Given the description of an element on the screen output the (x, y) to click on. 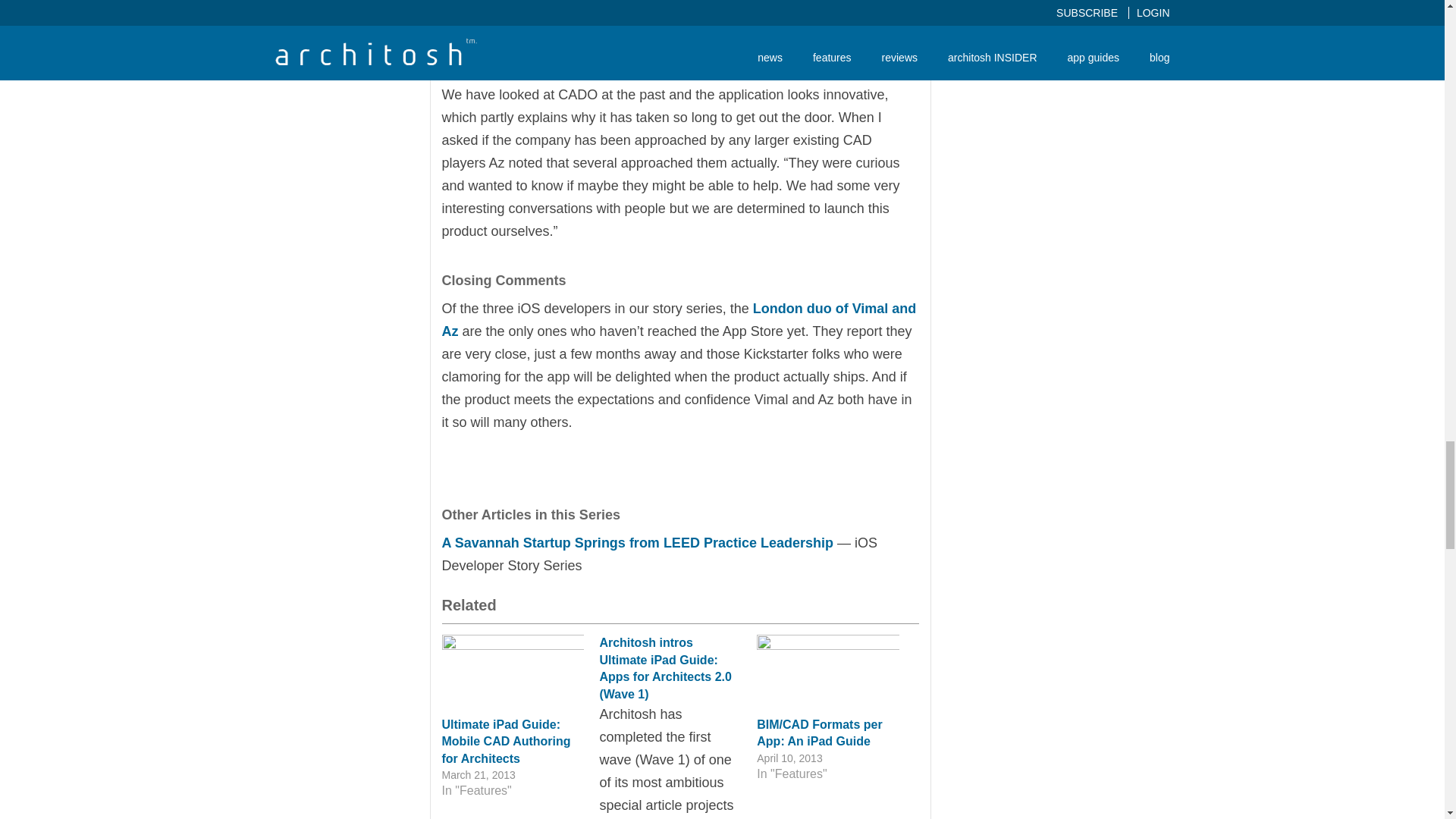
Ultimate iPad Guide: Mobile CAD Authoring for Architects (512, 674)
Ultimate iPad Guide: Mobile CAD Authoring for Architects (505, 741)
A Savannah Startup Springs from LEED Practice Leadership (636, 542)
Ultimate iPad Guide: Mobile CAD Authoring for Architects (505, 741)
London duo of Vimal and Az (678, 320)
